Given the description of an element on the screen output the (x, y) to click on. 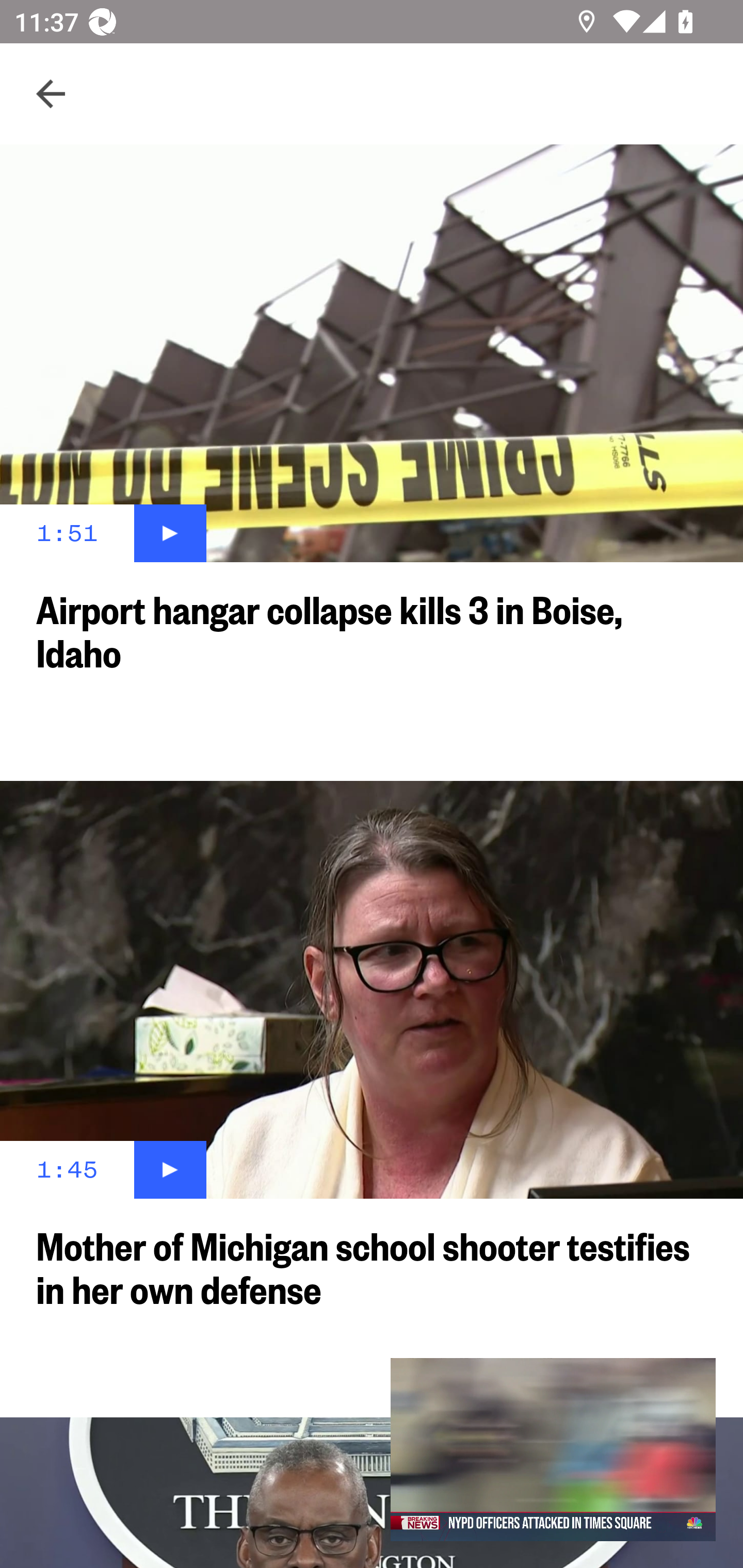
Navigate up (50, 93)
